Given the description of an element on the screen output the (x, y) to click on. 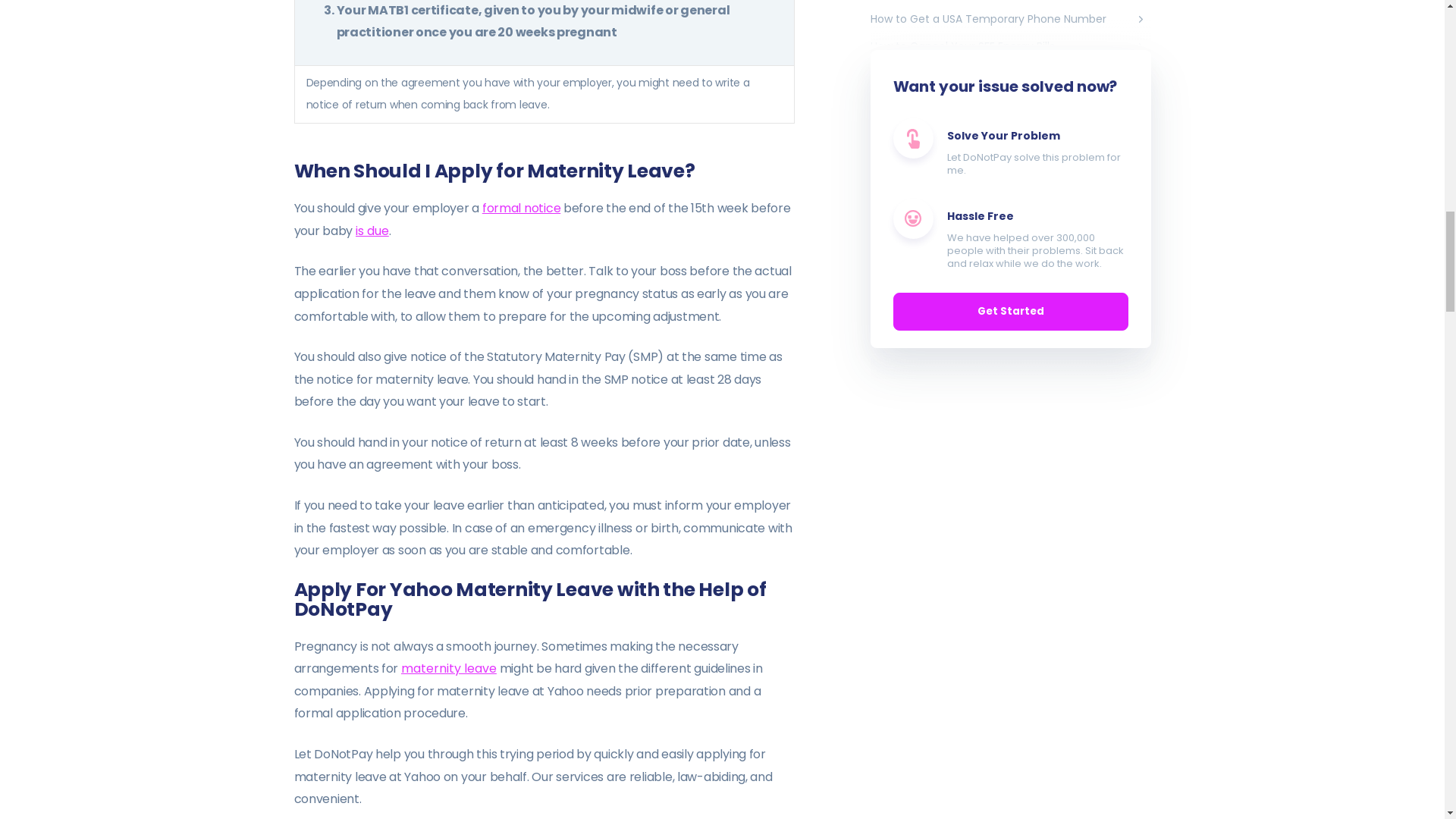
is due (371, 230)
maternity leave (448, 668)
formal notice (520, 208)
